Given the description of an element on the screen output the (x, y) to click on. 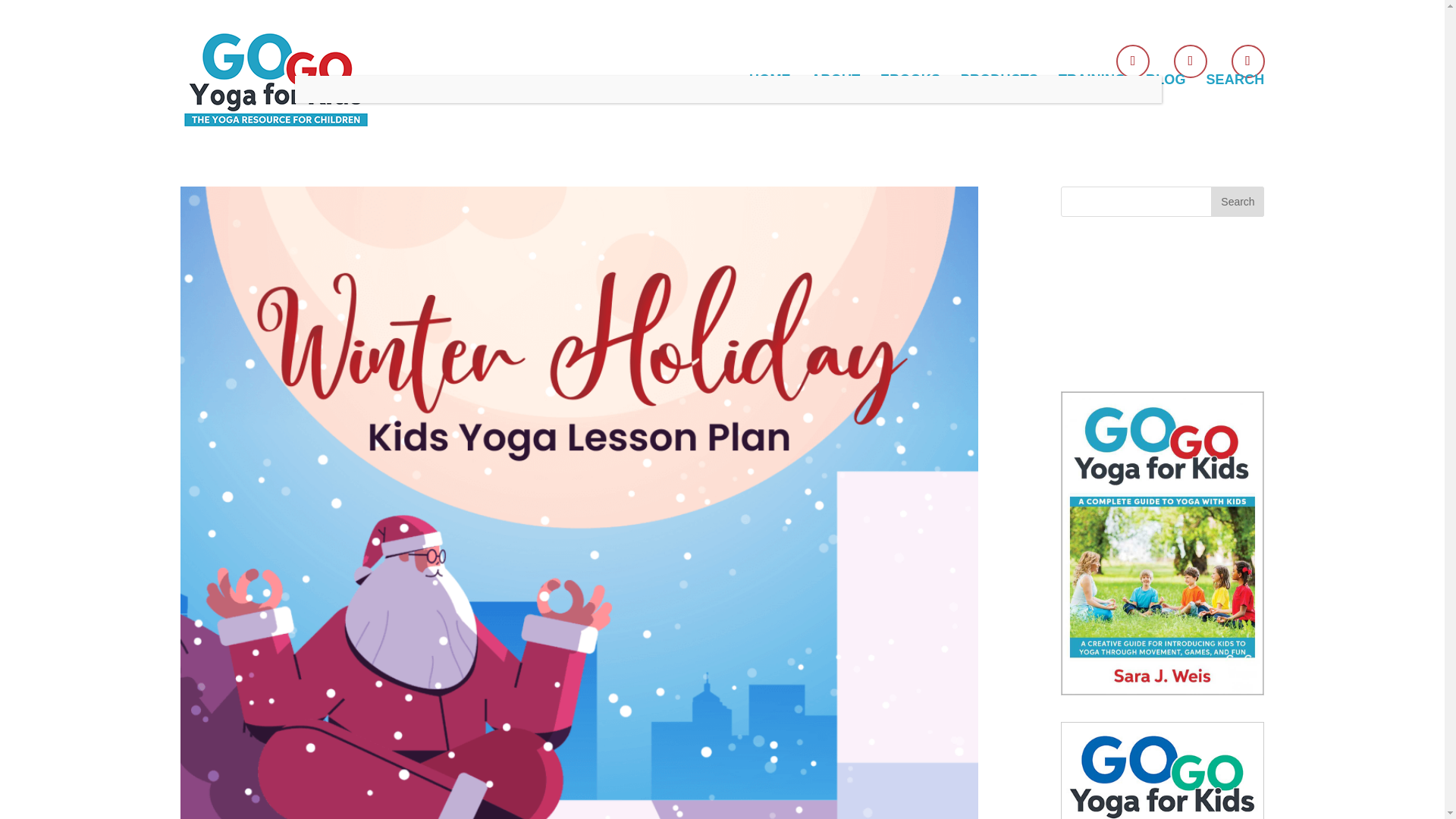
TRAINING (1091, 107)
Search (1237, 201)
Search (1237, 201)
PRODUCTS (999, 107)
